Given the description of an element on the screen output the (x, y) to click on. 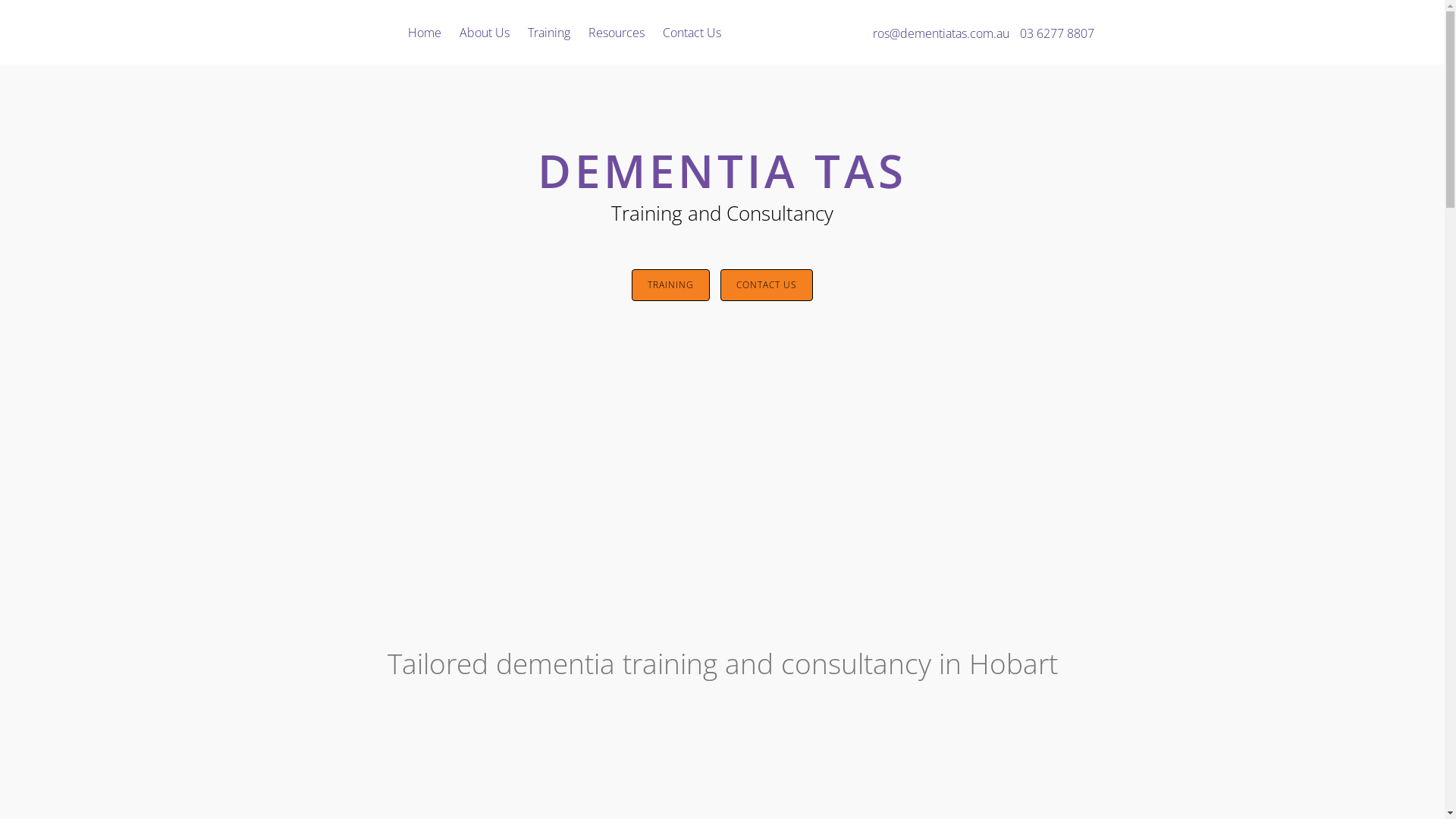
ros@dementiatas.com.au Element type: text (940, 33)
Resources Element type: text (616, 31)
TRAINING Element type: text (670, 285)
Training Element type: text (548, 31)
Contact Us Element type: text (691, 31)
Home Element type: text (424, 31)
About Us Element type: text (484, 31)
03 6277 8807 Element type: text (1056, 33)
CONTACT US Element type: text (766, 285)
